Given the description of an element on the screen output the (x, y) to click on. 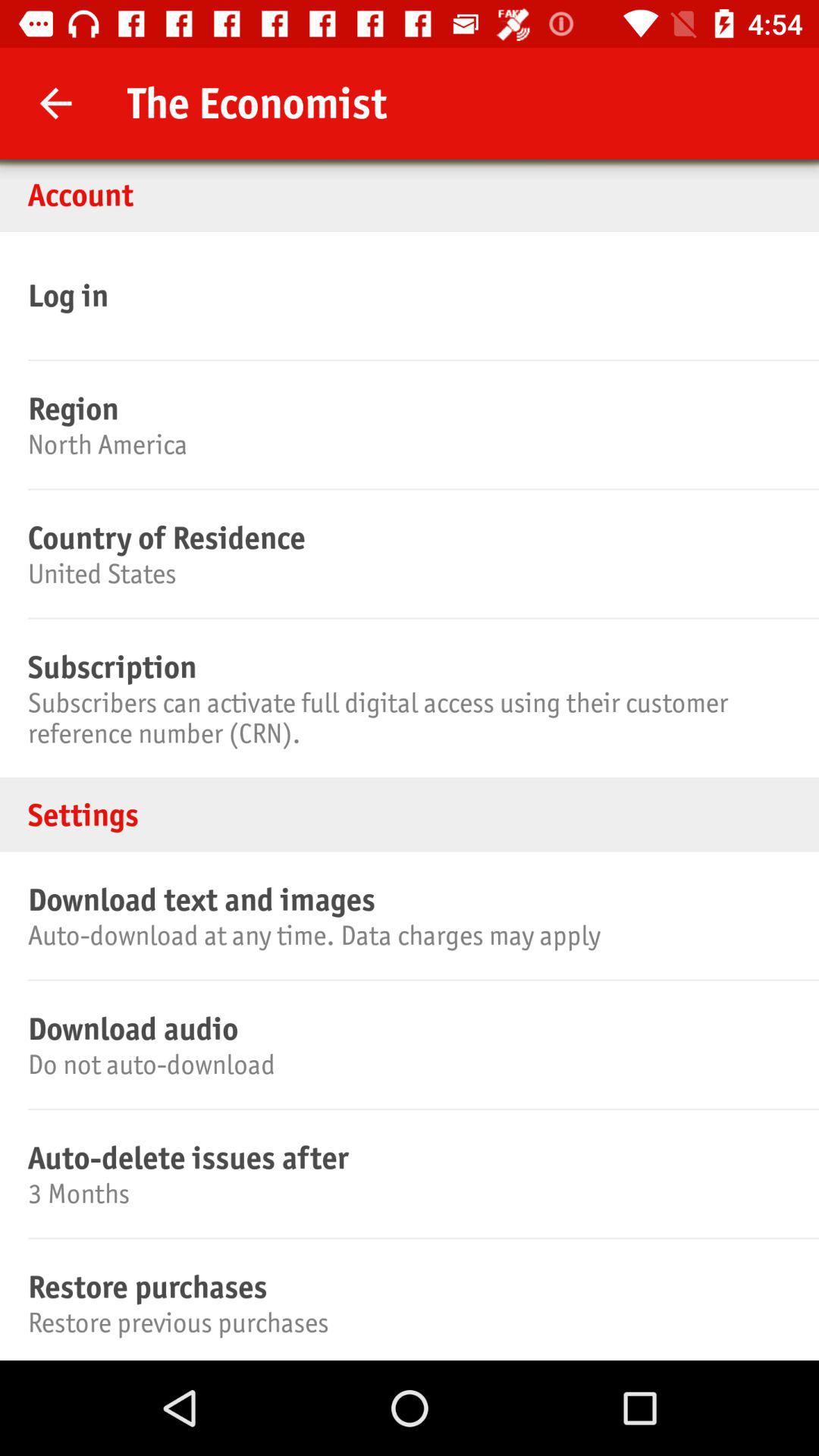
press region item (407, 408)
